Given the description of an element on the screen output the (x, y) to click on. 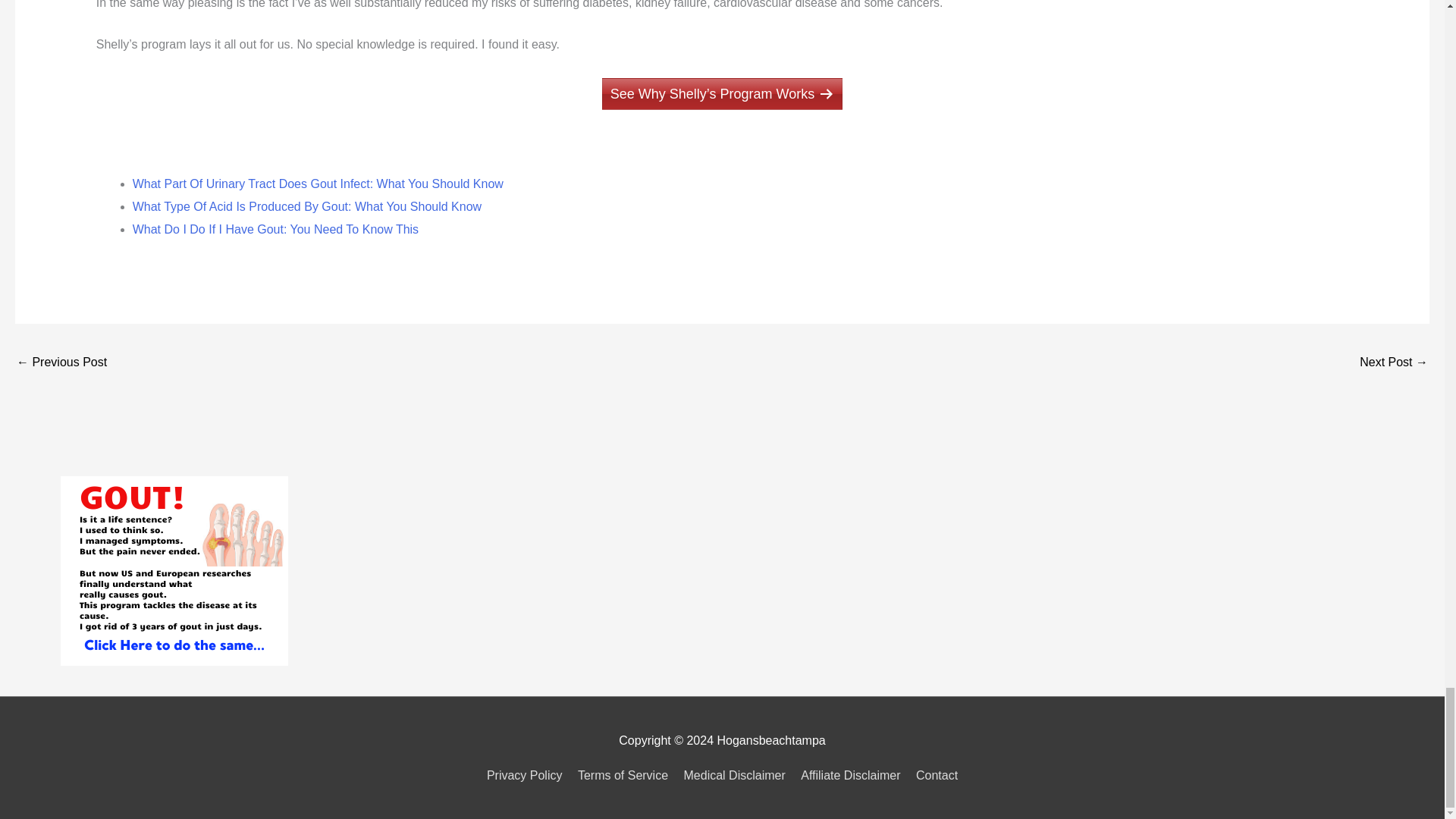
Terms of Service (623, 775)
Medical Disclaimer (735, 775)
Contact (934, 775)
Privacy Policy (527, 775)
What Type Of Acid Is Produced By Gout: What You Should Know (306, 205)
What Are Meats You Can Eat With Gout: What You Should Know (61, 363)
Affiliate Disclaimer (849, 775)
What Do I Do If I Have Gout: You Need To Know This (275, 228)
